Given the description of an element on the screen output the (x, y) to click on. 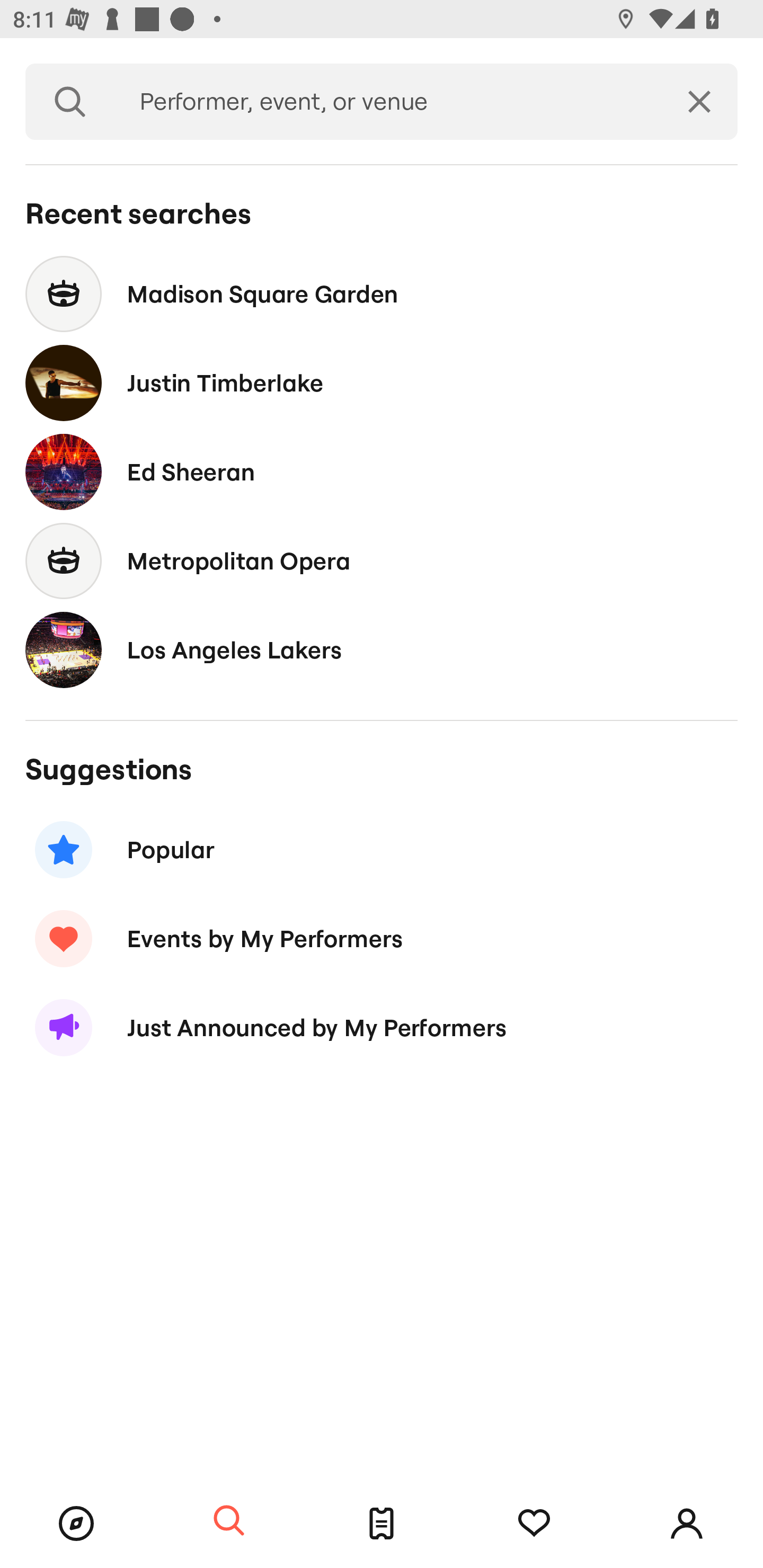
Search (69, 101)
Performer, event, or venue (387, 101)
Clear (699, 101)
Madison Square Garden (381, 293)
Justin Timberlake (381, 383)
Ed Sheeran (381, 471)
Metropolitan Opera (381, 560)
Los Angeles Lakers (381, 649)
Popular (381, 849)
Events by My Performers (381, 938)
Just Announced by My Performers (381, 1027)
Browse (76, 1523)
Search (228, 1521)
Tickets (381, 1523)
Tracking (533, 1523)
Account (686, 1523)
